Given the description of an element on the screen output the (x, y) to click on. 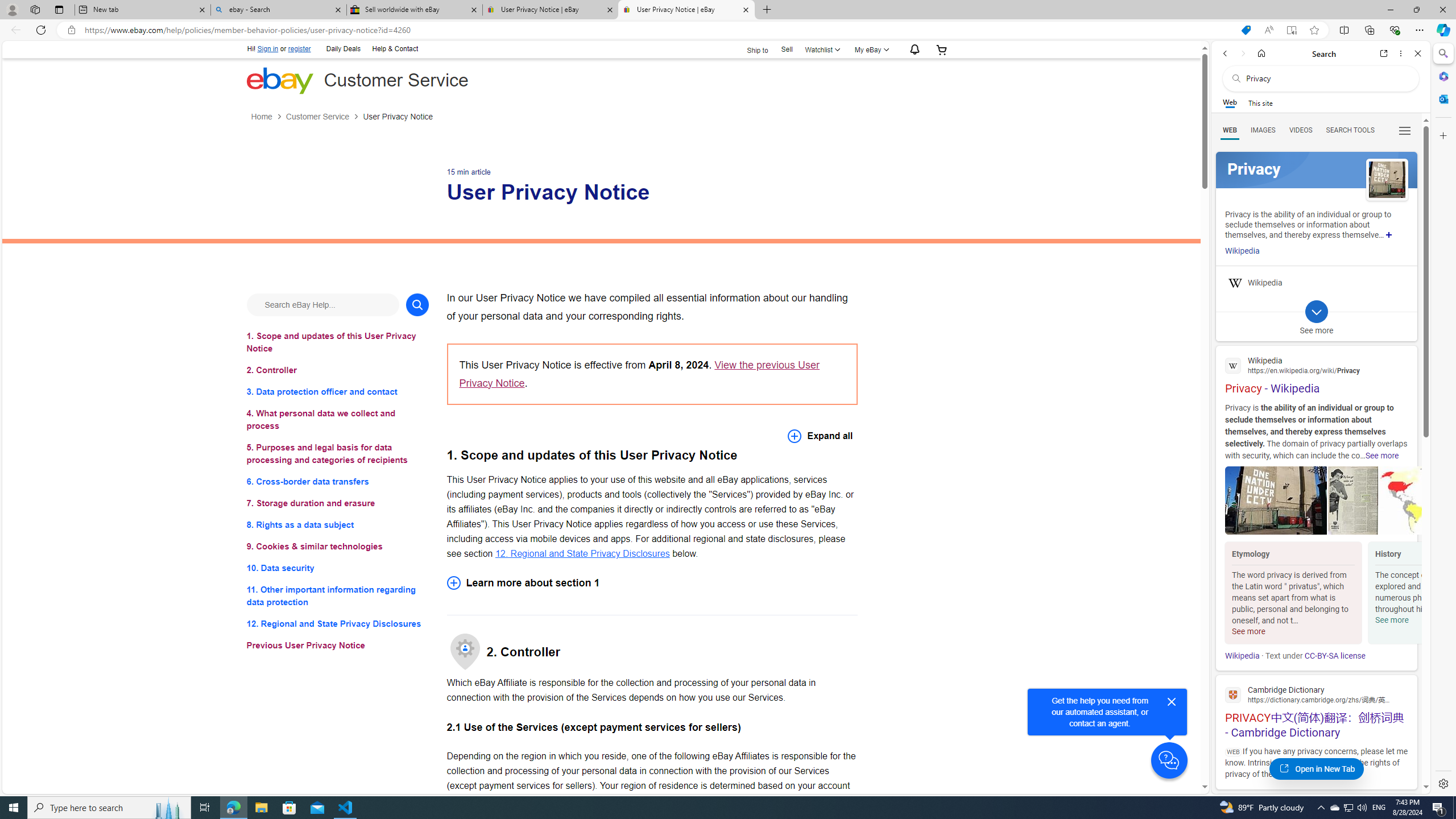
12. Regional and State Privacy Disclosures (582, 552)
Show more (1388, 234)
2. Controller (337, 369)
Daily Deals (343, 48)
Preferences (1403, 129)
This site scope (1259, 102)
WatchlistExpand Watch List (820, 49)
Cambridge Dictionary (1315, 693)
